Given the description of an element on the screen output the (x, y) to click on. 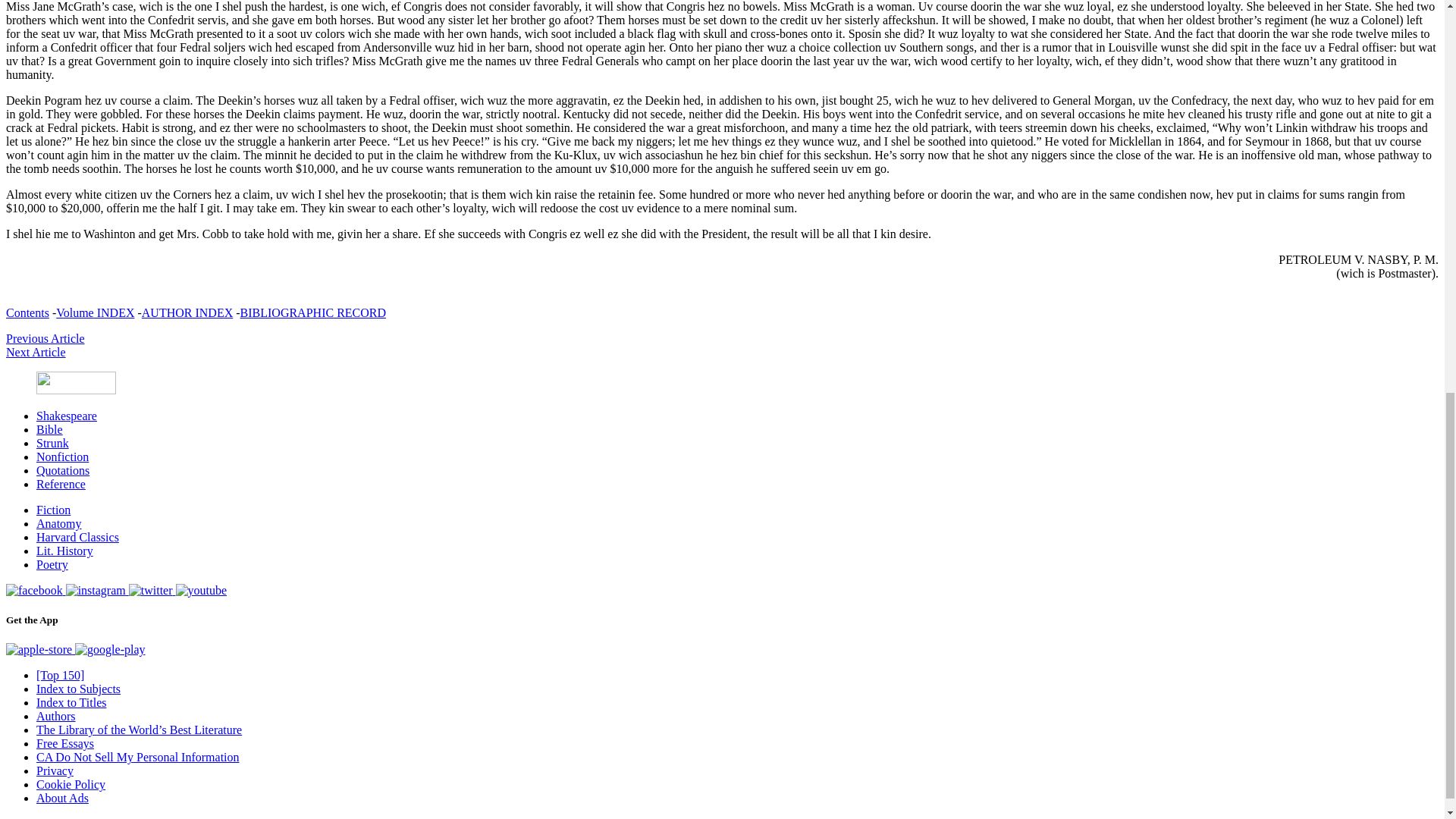
Quotations (62, 470)
Previous Article (44, 338)
Strunk (52, 442)
Volume INDEX (94, 312)
BIBLIOGRAPHIC RECORD (312, 312)
Lit. History (64, 550)
Anatomy (58, 522)
Contents (27, 312)
Fiction (52, 509)
Reference (60, 483)
